Given the description of an element on the screen output the (x, y) to click on. 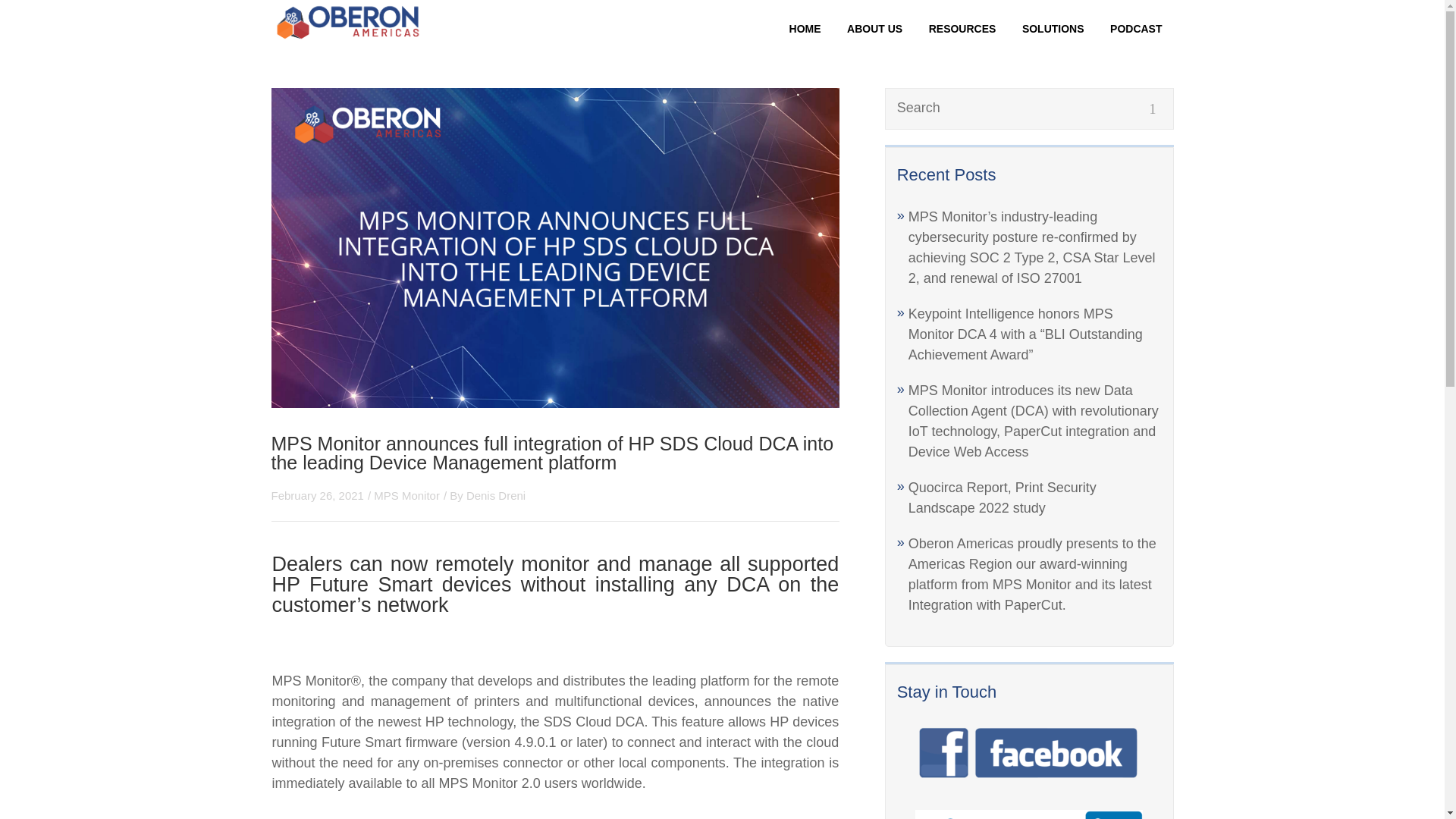
Quocirca Report, Print Security Landscape 2022 study (1002, 497)
ABOUT US (874, 28)
MPS Monitor (406, 495)
RESOURCES (961, 28)
Denis Dreni (495, 495)
HOME (805, 28)
SOLUTIONS (1053, 28)
PODCAST (1135, 28)
